Given the description of an element on the screen output the (x, y) to click on. 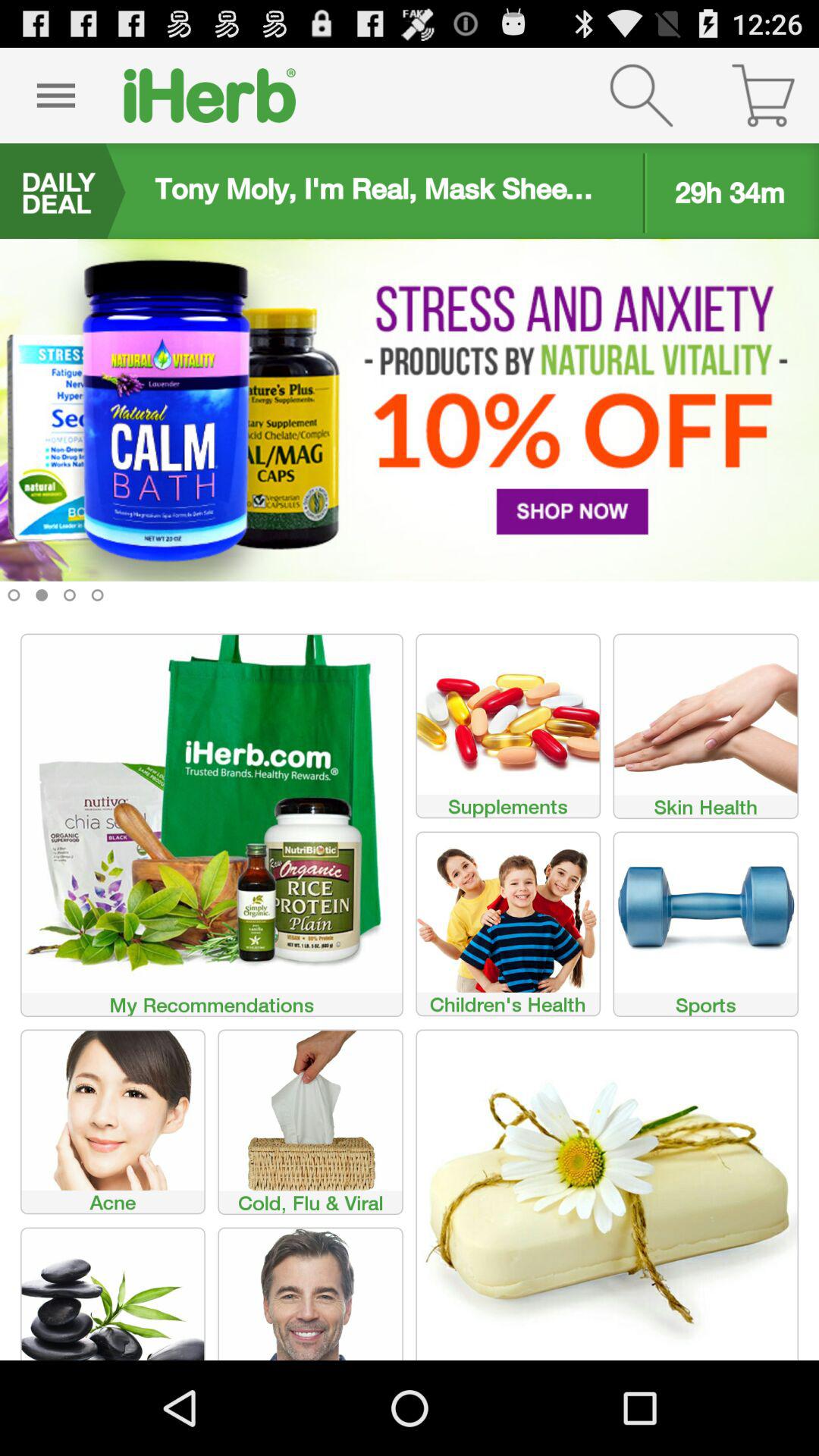
go to search box (641, 95)
